Given the description of an element on the screen output the (x, y) to click on. 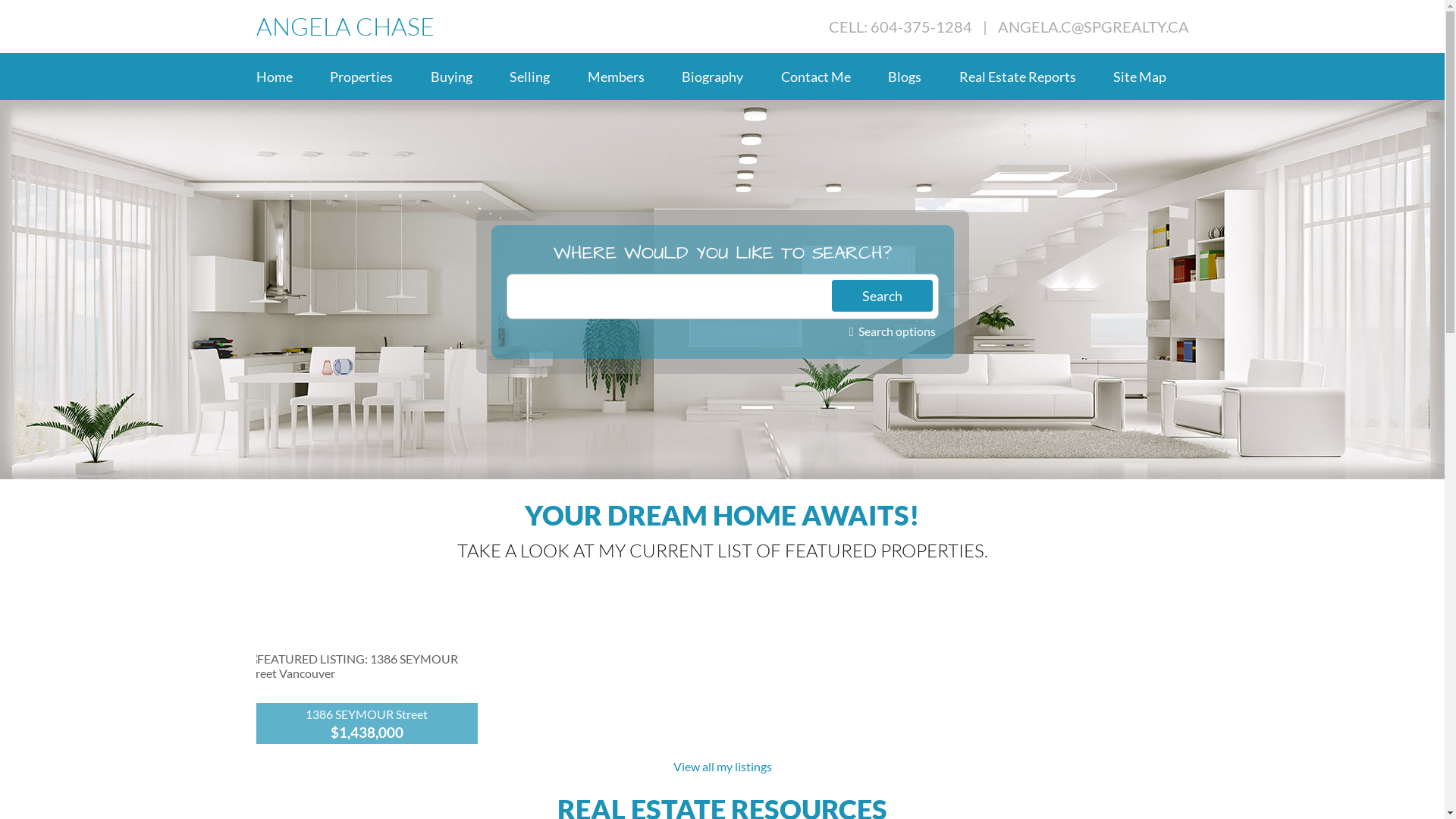
Blogs Element type: text (915, 76)
View all my listings Element type: text (722, 766)
Biography Element type: text (723, 76)
Selling Element type: text (541, 76)
Home Element type: text (285, 76)
Site Map Element type: text (1150, 76)
Properties Element type: text (372, 76)
Buying Element type: text (462, 76)
Real Estate Reports Element type: text (1027, 76)
Search Element type: text (881, 295)
ANGELA.C@SPGREALTY.CA Element type: text (1093, 25)
Contact Me Element type: text (827, 76)
Members Element type: text (626, 76)
